Given the description of an element on the screen output the (x, y) to click on. 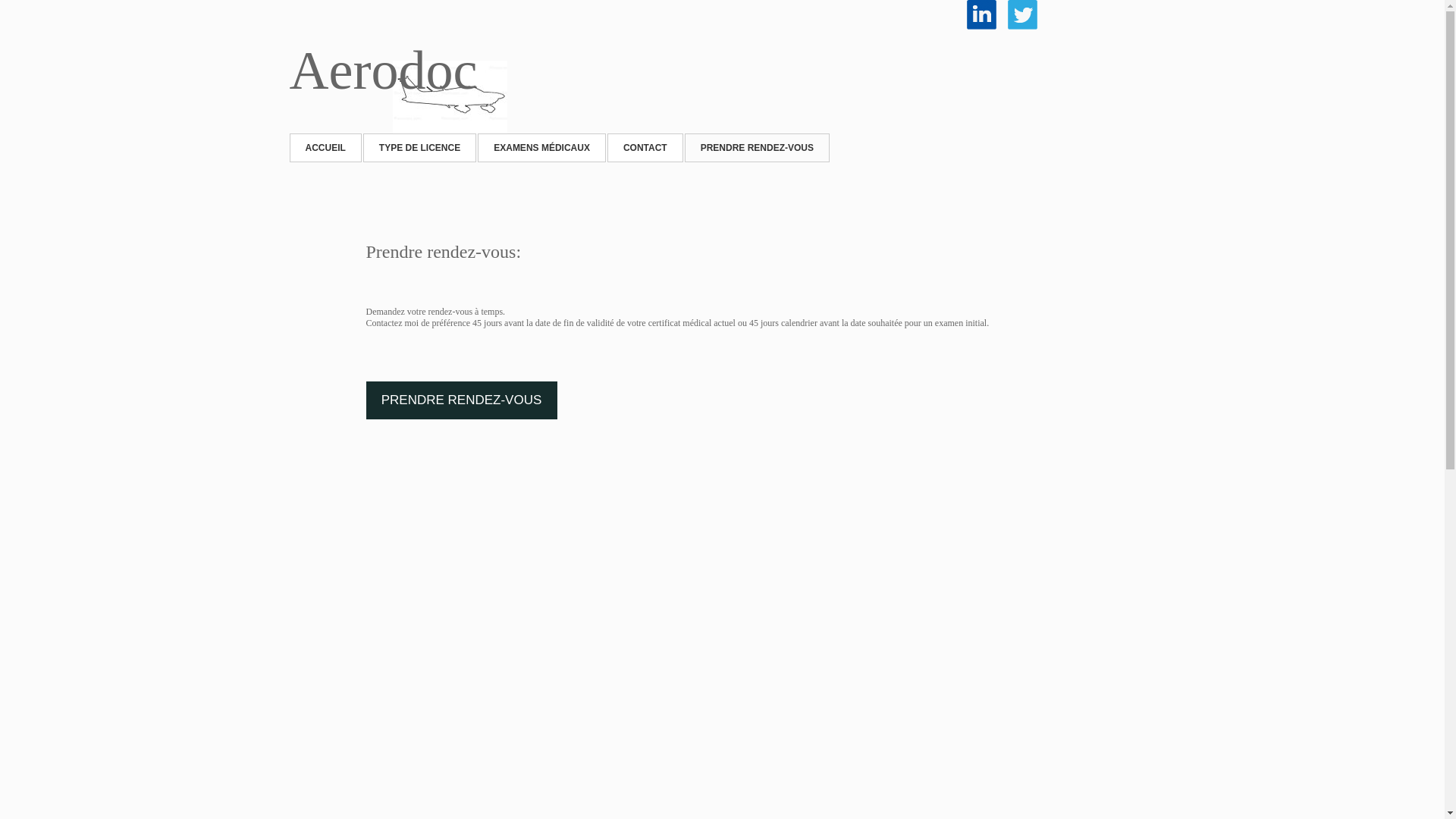
Aerodoc Element type: text (383, 70)
TYPE DE LICENCE Element type: text (419, 147)
ACCUEIL Element type: text (325, 147)
PRENDRE RENDEZ-VOUS Element type: text (461, 400)
CONTACT Element type: text (645, 147)
PRENDRE RENDEZ-VOUS Element type: text (756, 147)
